Given the description of an element on the screen output the (x, y) to click on. 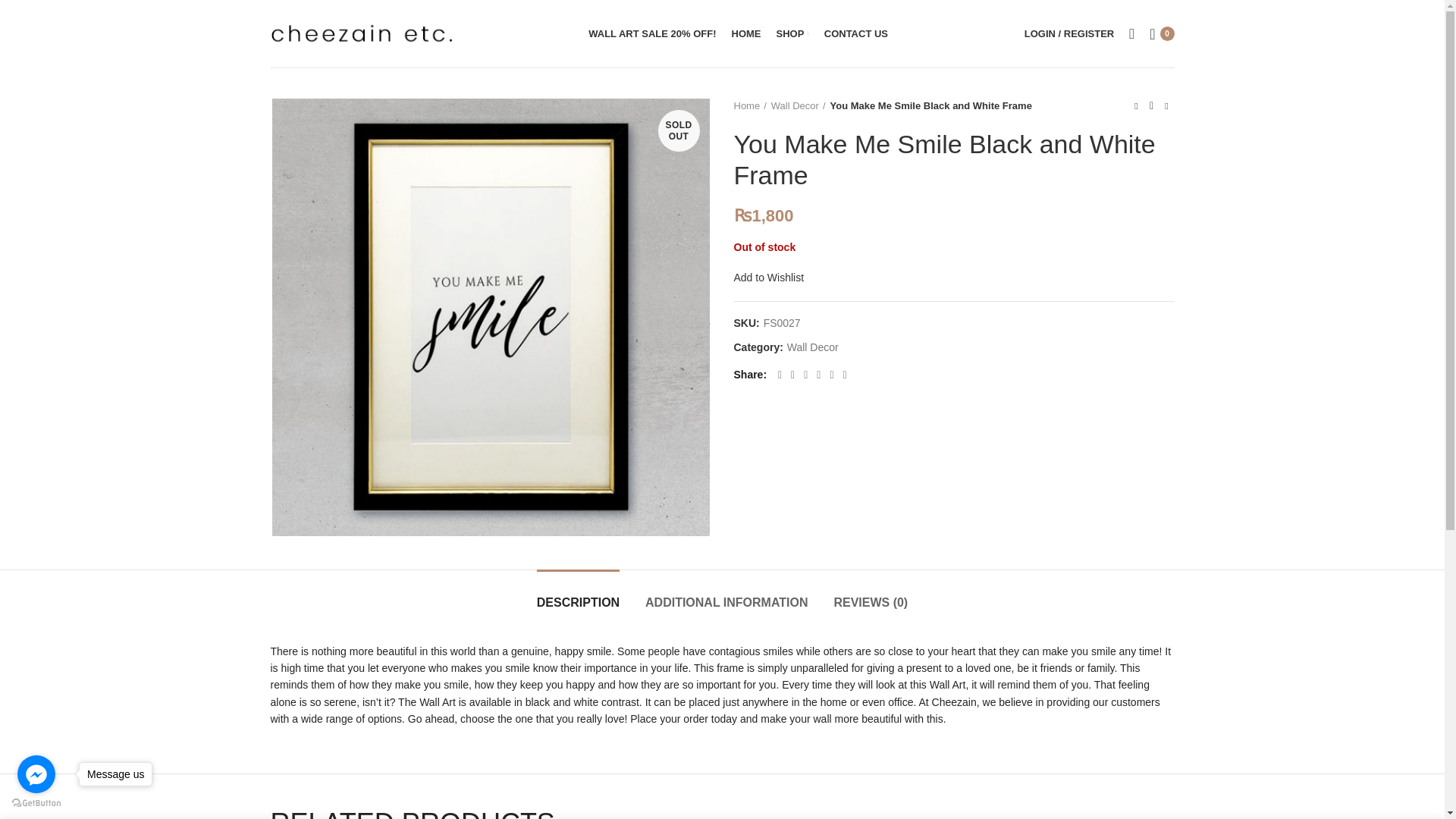
Search (1131, 33)
My account (1068, 33)
Shopping cart (1160, 33)
HOME (745, 33)
SHOP (792, 33)
